Given the description of an element on the screen output the (x, y) to click on. 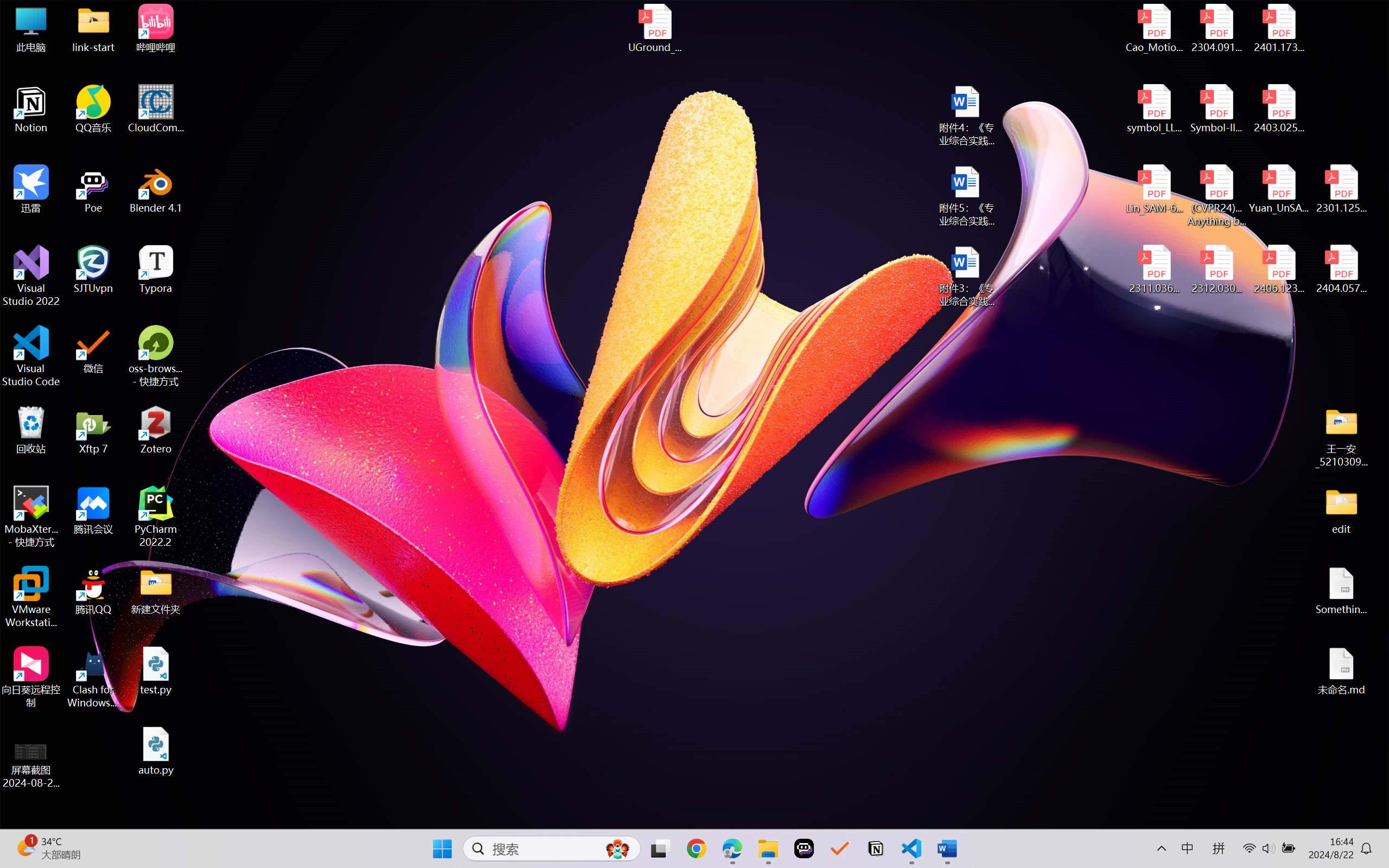
2404.05719v1.pdf (1340, 269)
auto.py (156, 751)
Blender 4.1 (156, 189)
2304.09121v3.pdf (1216, 28)
Visual Studio Code (31, 355)
